Given the description of an element on the screen output the (x, y) to click on. 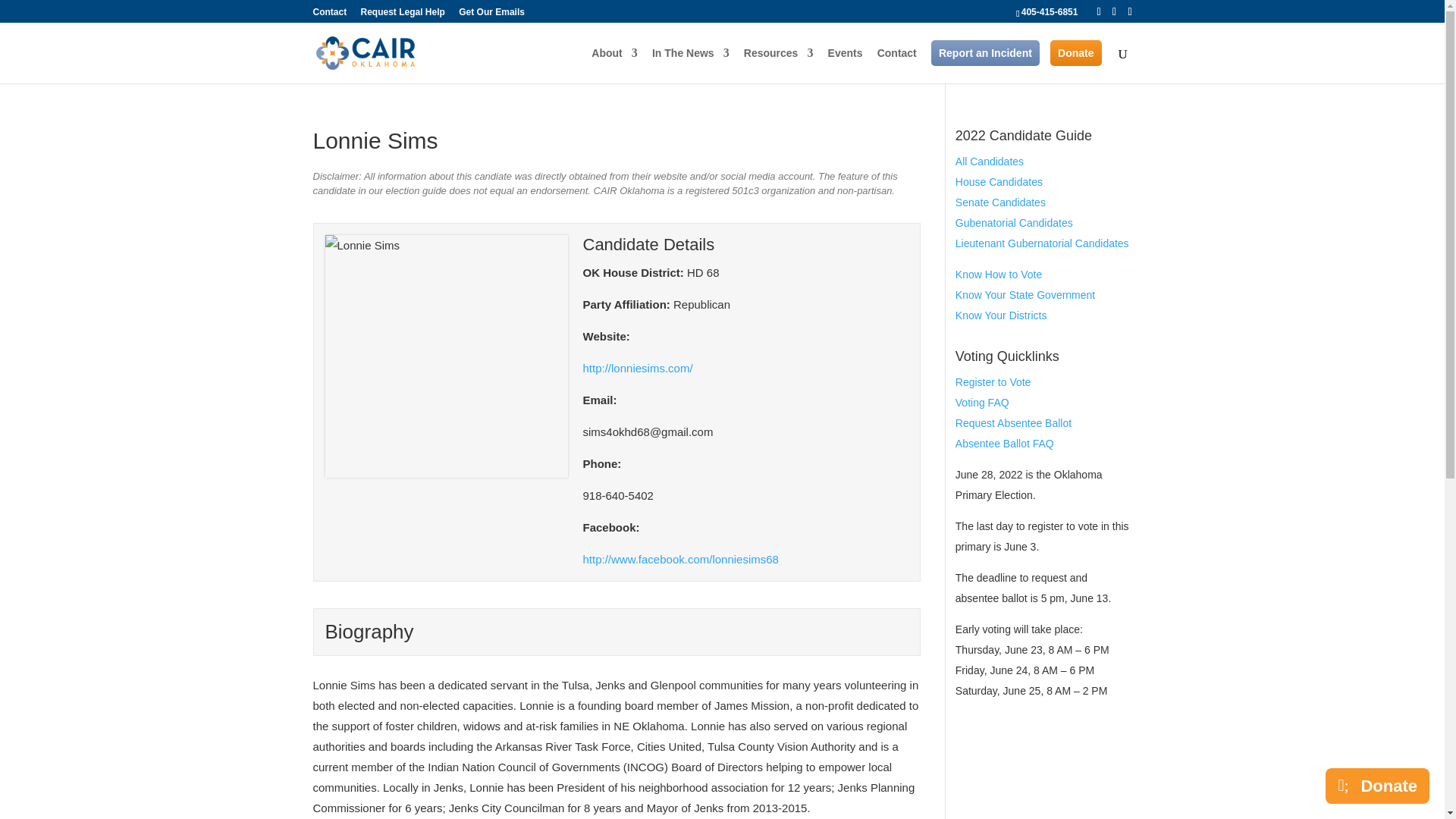
Senate Candidates (1000, 202)
Request Legal Help (403, 15)
Report an Incident (985, 53)
In The News (690, 65)
Get Our Emails (491, 15)
Donate (1074, 53)
About (614, 65)
Know How to Vote (998, 274)
Gubenatorial Candidates (1014, 223)
Resources (778, 65)
Lieutenant Gubernatorial Candidates (1042, 243)
Contact (329, 15)
Contact (897, 65)
House Candidates (998, 182)
Know Your State Government (1024, 295)
